Given the description of an element on the screen output the (x, y) to click on. 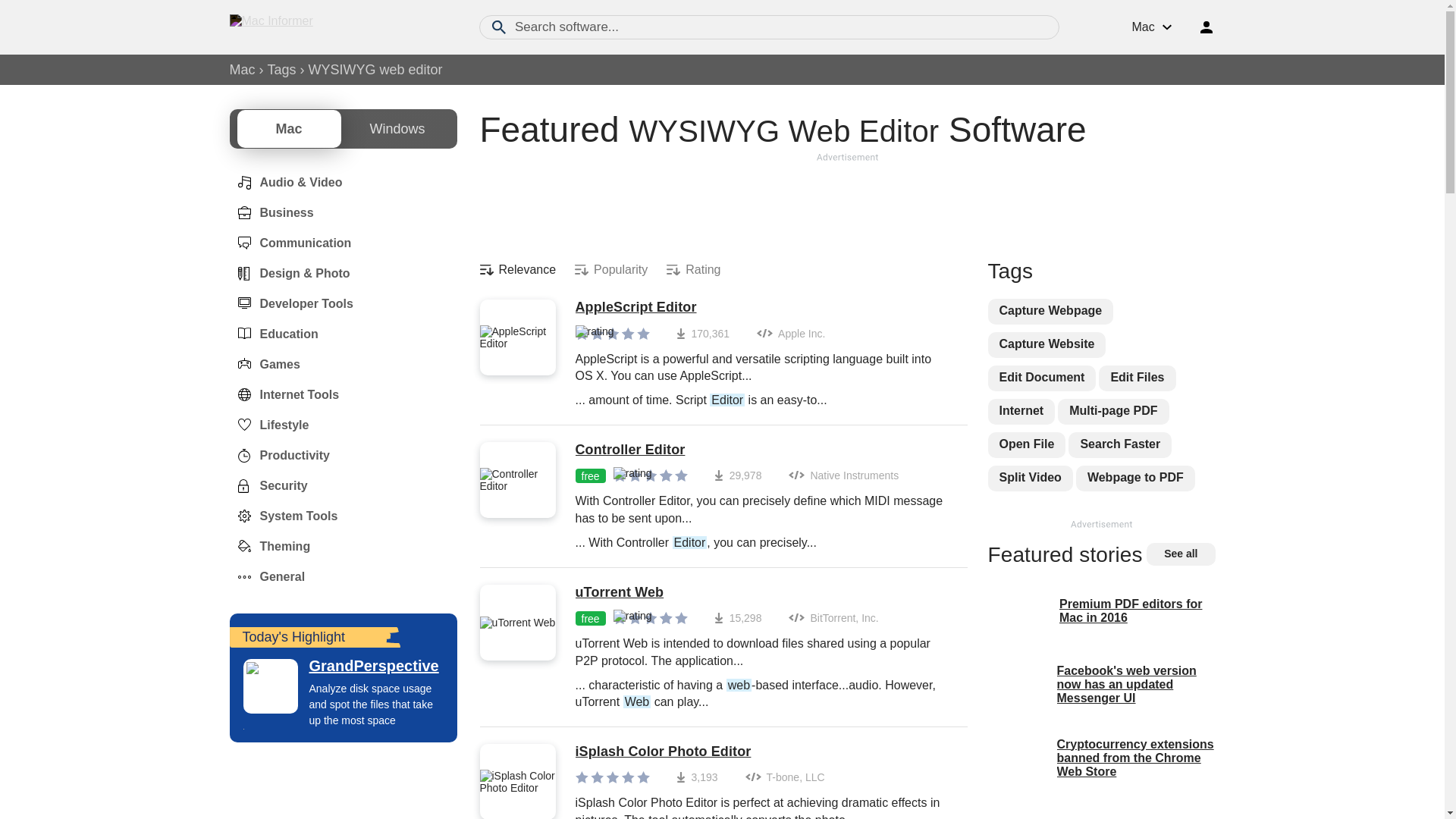
Relevance (517, 269)
Security (267, 486)
System Tools (282, 516)
iSplash Color Photo Editor (763, 751)
AppleScript Editor (763, 307)
General (266, 576)
uTorrent Web (763, 592)
Rating (693, 269)
Search software... (769, 27)
